Given the description of an element on the screen output the (x, y) to click on. 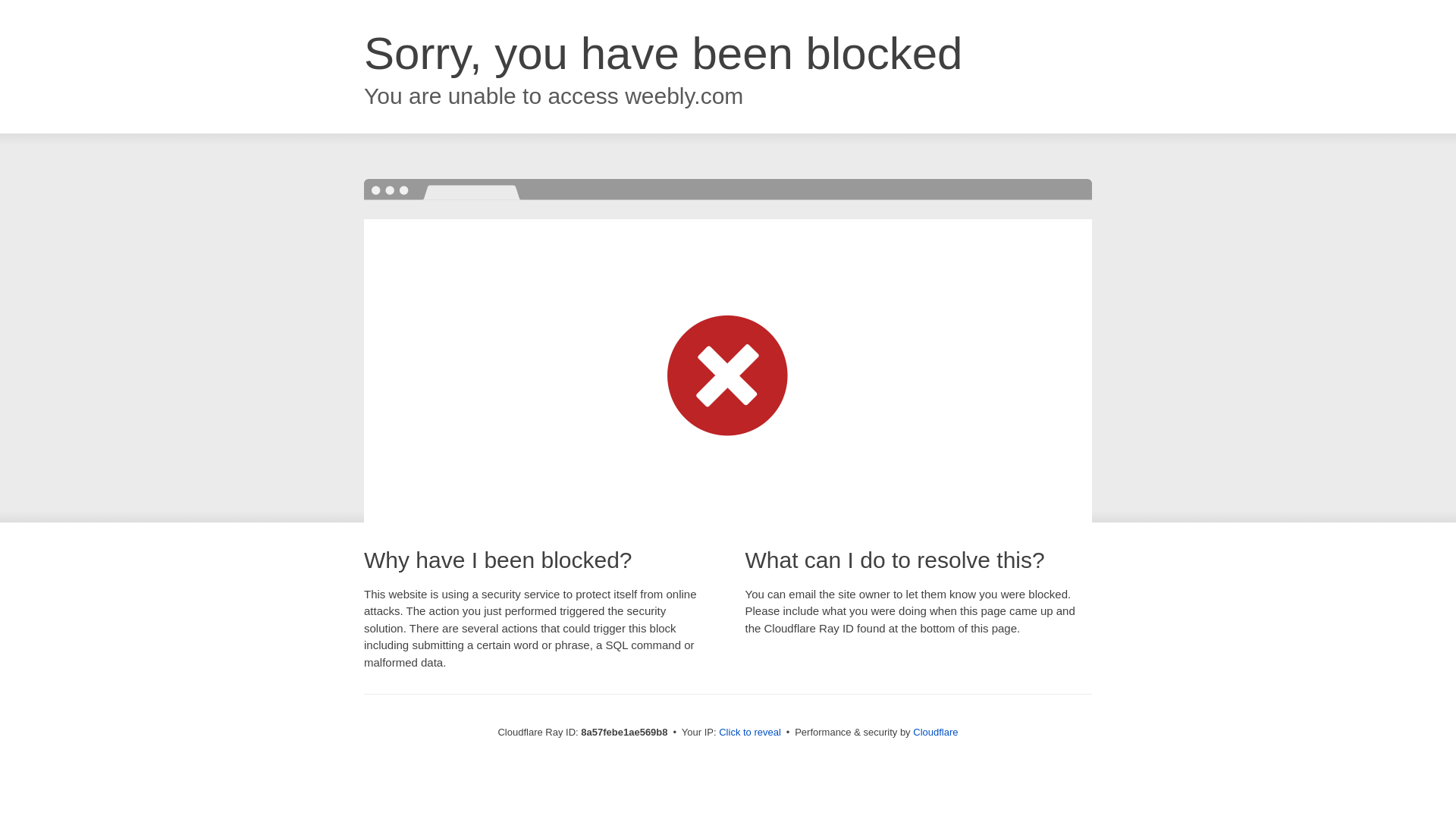
Cloudflare (935, 731)
Click to reveal (749, 732)
